Given the description of an element on the screen output the (x, y) to click on. 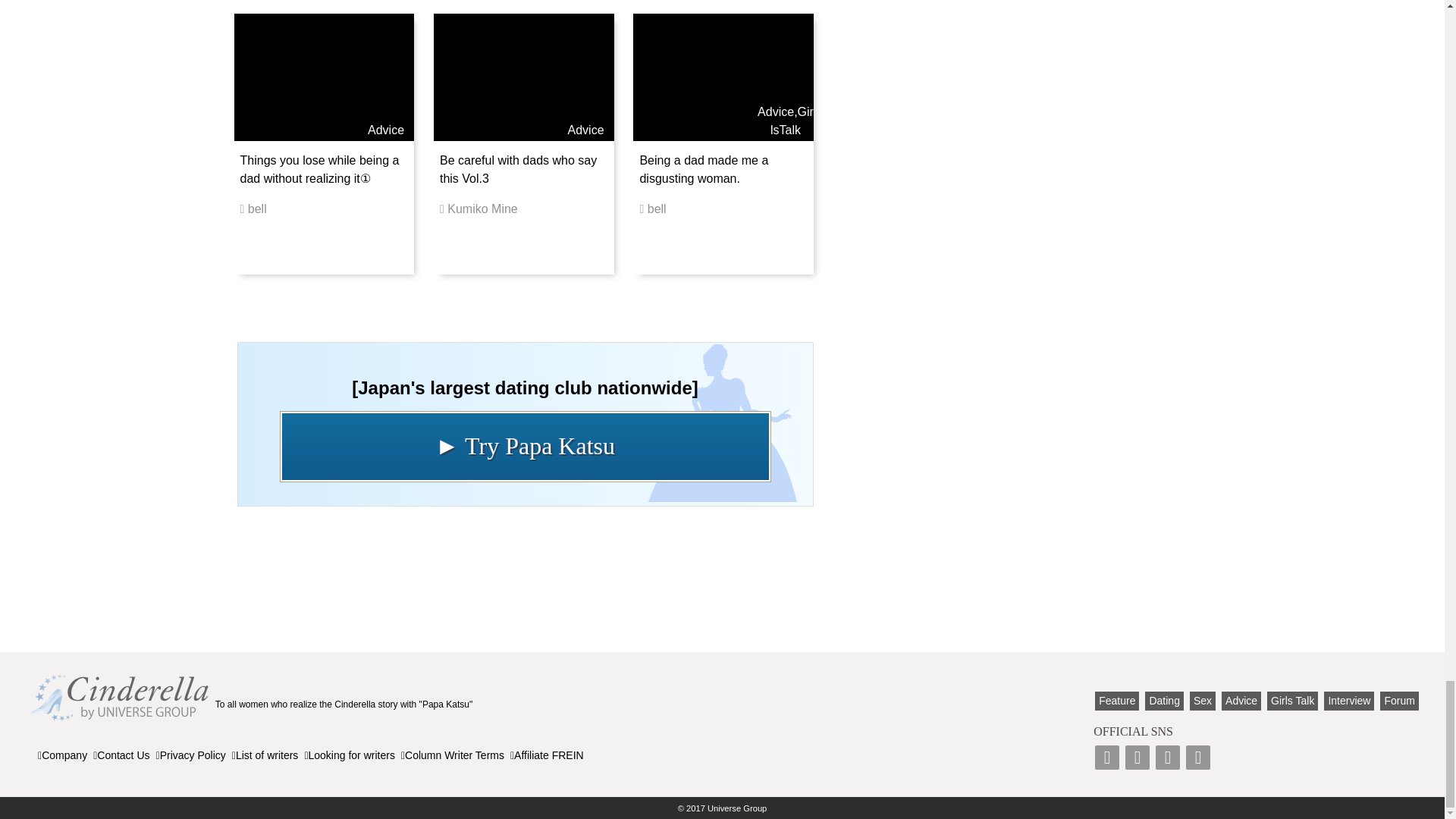
Advice (585, 129)
Affiliate FREIN (547, 755)
Advice (775, 111)
Be careful with dads who say this Vol.3 (517, 169)
GirlsTalk (791, 120)
Being a dad made me a disgusting woman. (703, 169)
Advice (386, 129)
